Given the description of an element on the screen output the (x, y) to click on. 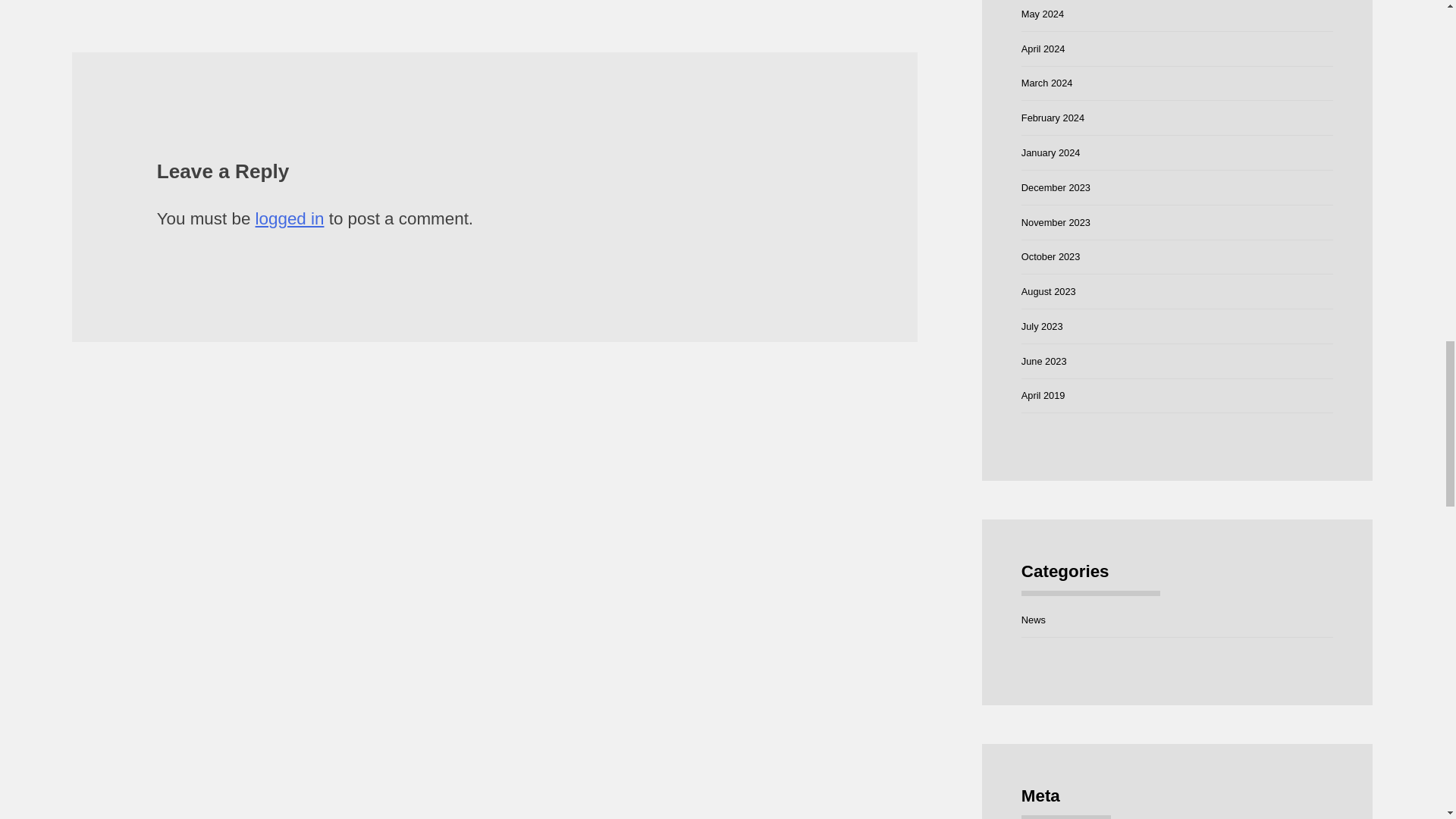
April 2024 (1043, 48)
July 2023 (1042, 326)
June 2023 (1044, 360)
News (1033, 619)
May 2024 (1043, 13)
logged in (290, 218)
August 2023 (1048, 291)
January 2024 (1051, 152)
March 2024 (1047, 82)
December 2023 (1056, 187)
